Given the description of an element on the screen output the (x, y) to click on. 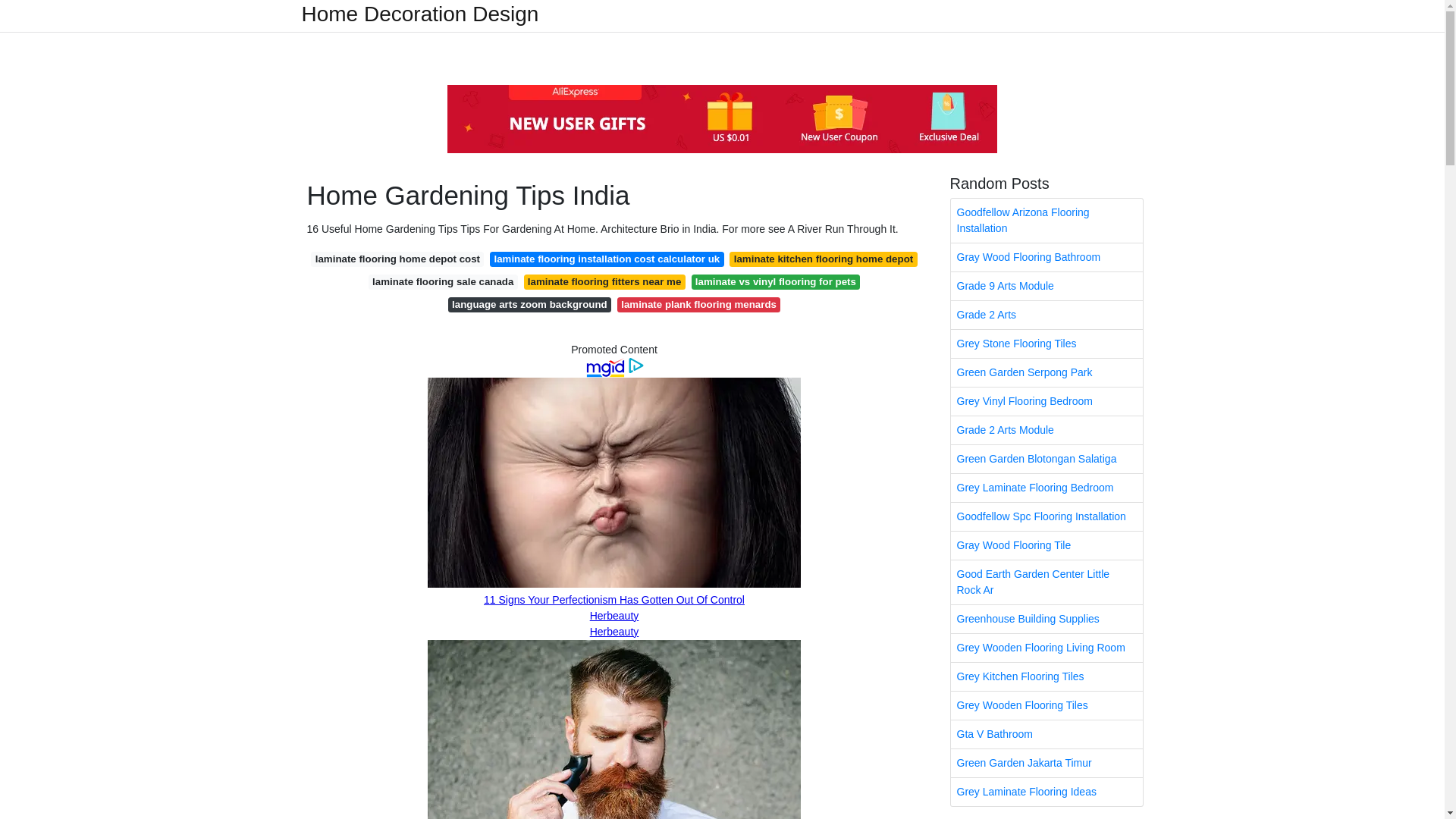
Grade 9 Arts Module (1046, 285)
Green Garden Blotongan Salatiga (1046, 459)
Home Decoration Design (419, 13)
Home Decoration Design (419, 13)
laminate flooring installation cost calculator uk (606, 258)
Green Garden Serpong Park (1046, 372)
laminate plank flooring menards (698, 304)
laminate flooring home depot cost (397, 258)
Grade 2 Arts Module (1046, 430)
Grade 2 Arts (1046, 315)
Goodfellow Arizona Flooring Installation (1046, 220)
laminate flooring fitters near me (604, 281)
laminate kitchen flooring home depot (823, 258)
Gray Wood Flooring Bathroom (1046, 257)
Grey Vinyl Flooring Bedroom (1046, 401)
